Given the description of an element on the screen output the (x, y) to click on. 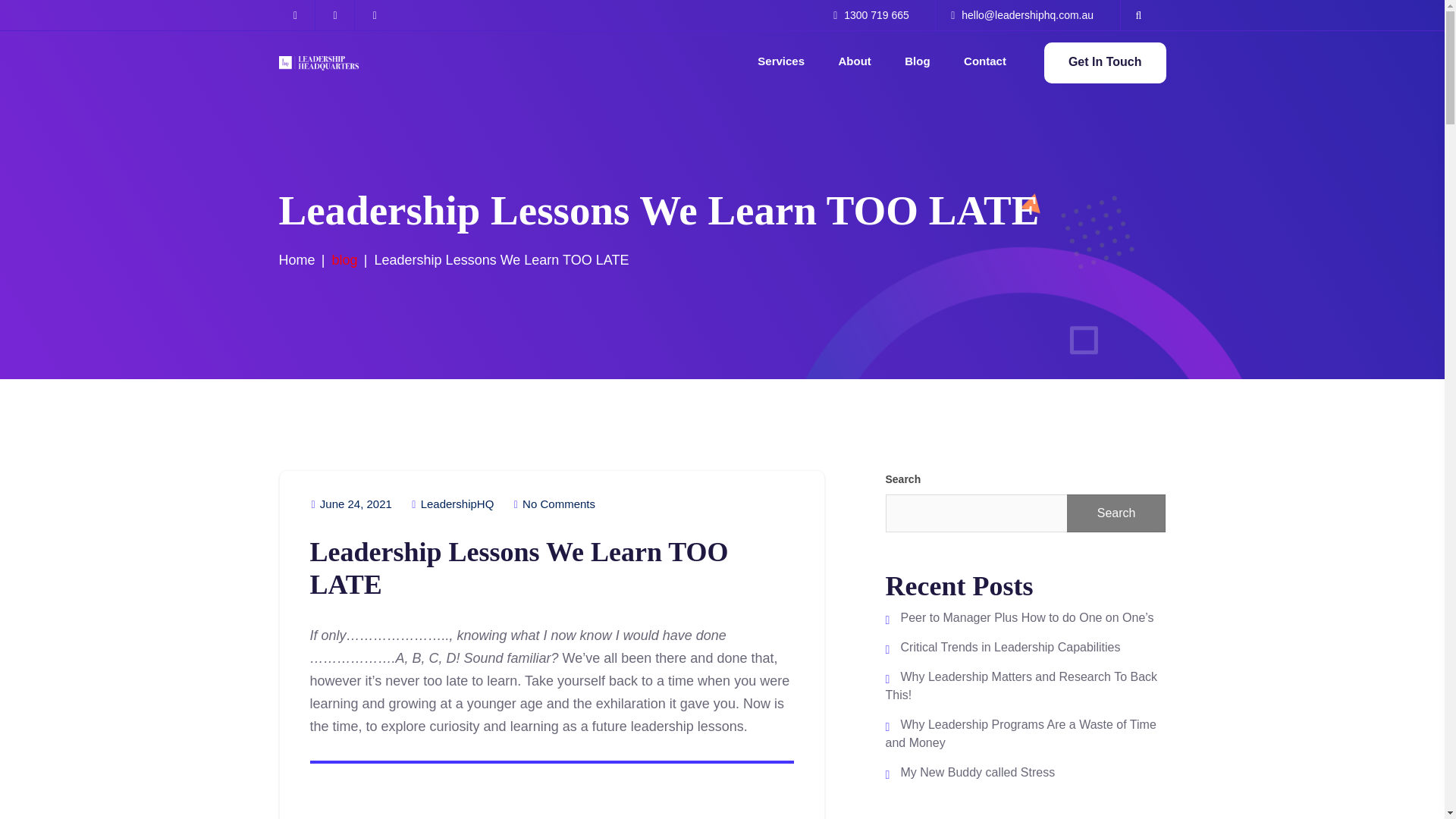
LeadershipHQ (451, 503)
Search (1116, 513)
blog (344, 259)
Home (297, 259)
No Comments (553, 503)
Services (781, 62)
1300 719 665 (870, 15)
Services (781, 62)
Get In Touch (1104, 62)
